Given the description of an element on the screen output the (x, y) to click on. 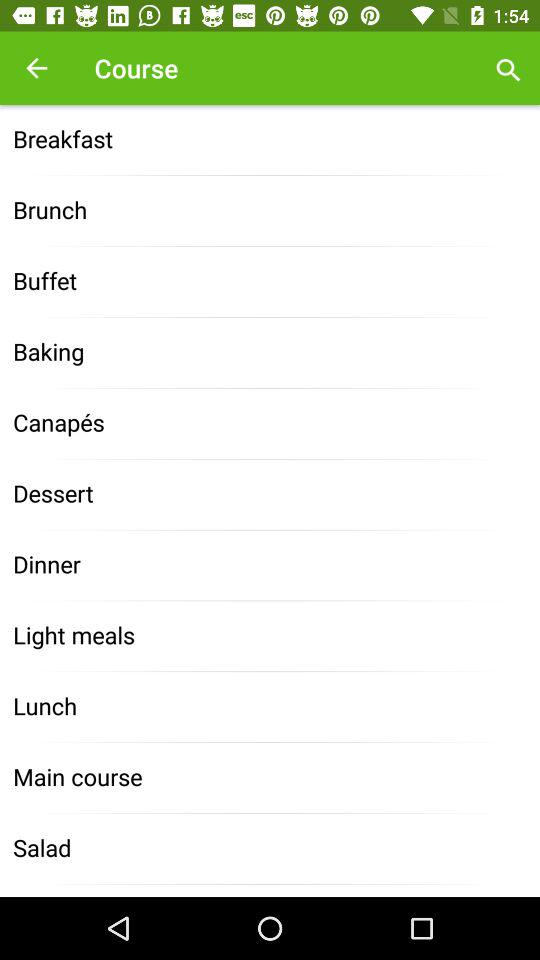
choose lunch icon (270, 706)
